Given the description of an element on the screen output the (x, y) to click on. 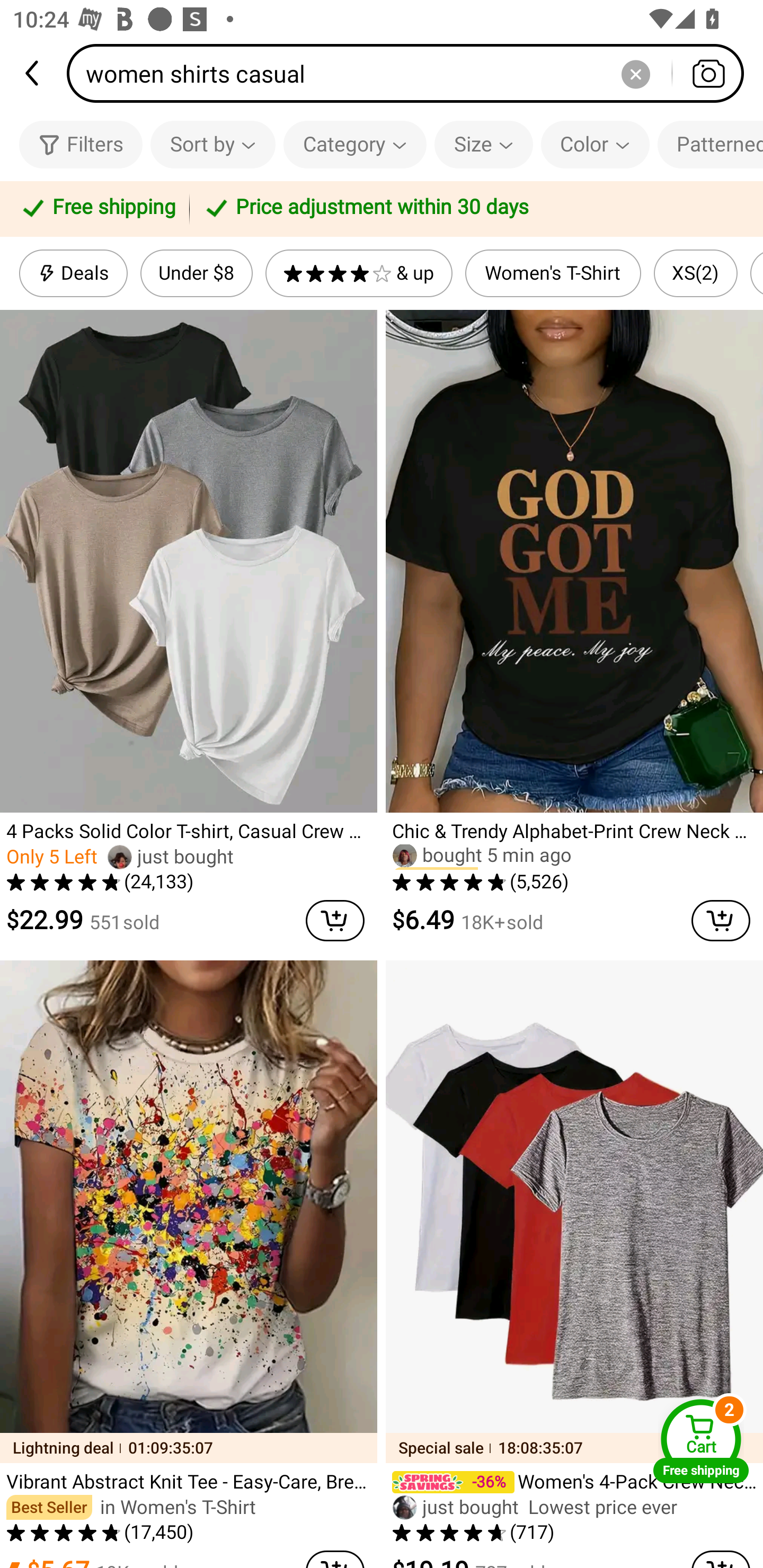
back (33, 72)
women shirts casual (411, 73)
Delete search history (635, 73)
Search by photo (708, 73)
Filters (80, 143)
Sort by (212, 143)
Category (354, 143)
Size (483, 143)
Color (594, 143)
Free shipping (97, 208)
Price adjustment within 30 days (472, 208)
Deals (73, 273)
Under $8 (196, 273)
& up (358, 273)
Women's T-Shirt (552, 273)
XS(2) (695, 273)
cart delete (334, 920)
cart delete (720, 920)
Cart Free shipping Cart (701, 1440)
